Given the description of an element on the screen output the (x, y) to click on. 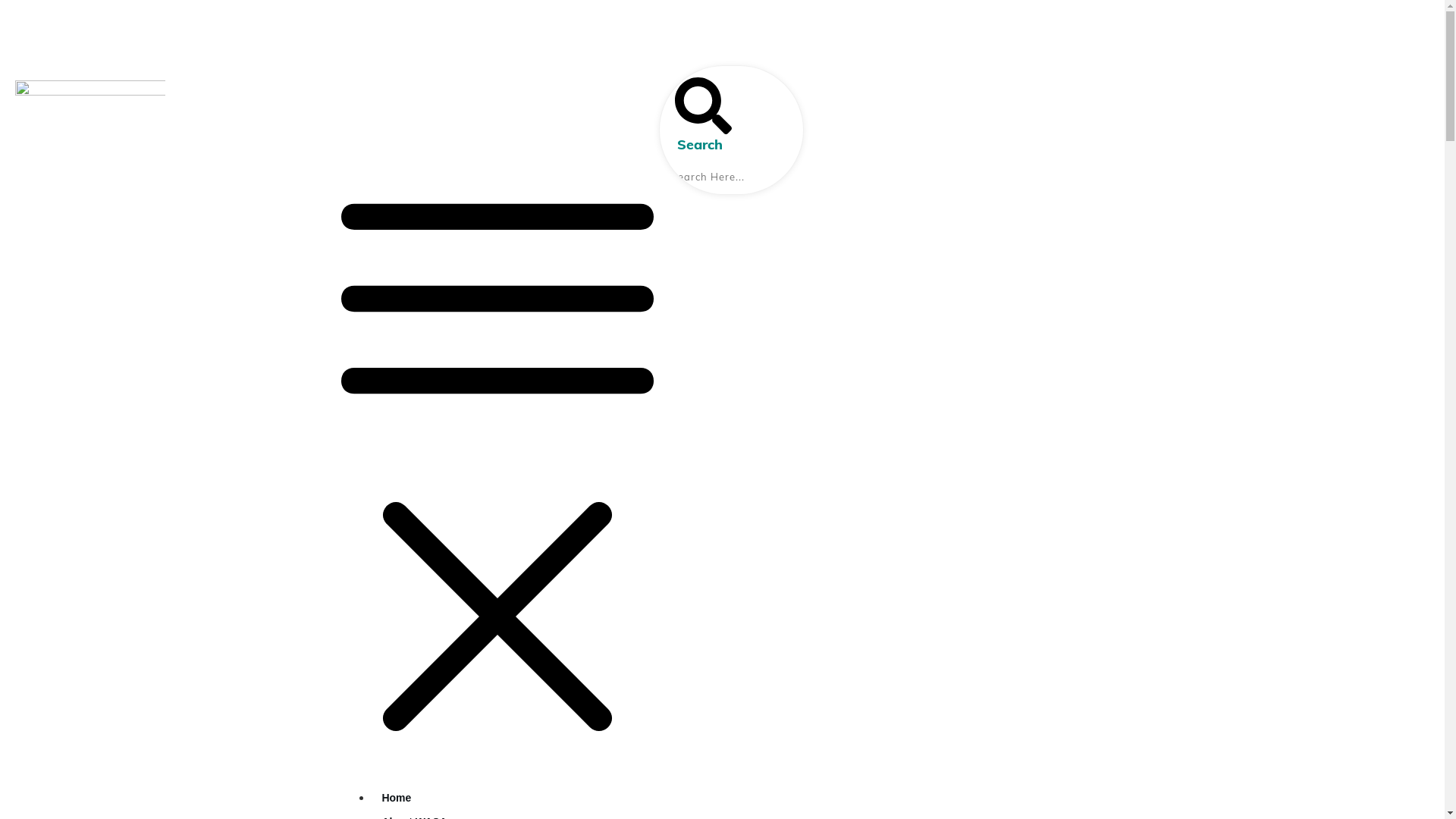
Search Element type: text (699, 114)
Home Element type: text (396, 797)
